Given the description of an element on the screen output the (x, y) to click on. 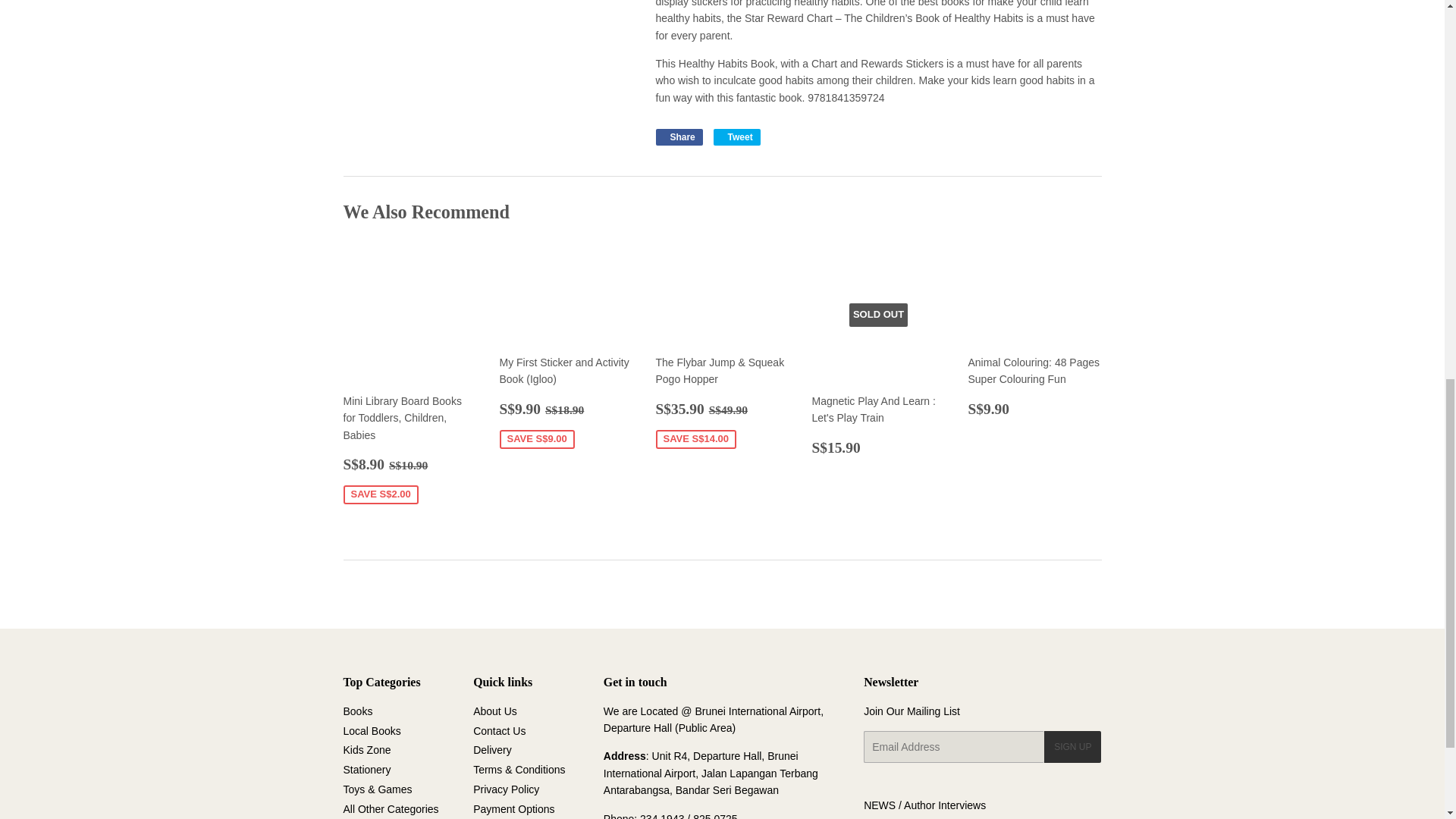
Share on Facebook (678, 136)
Tweet on Twitter (736, 136)
Author Interviews (944, 805)
News (879, 805)
